Given the description of an element on the screen output the (x, y) to click on. 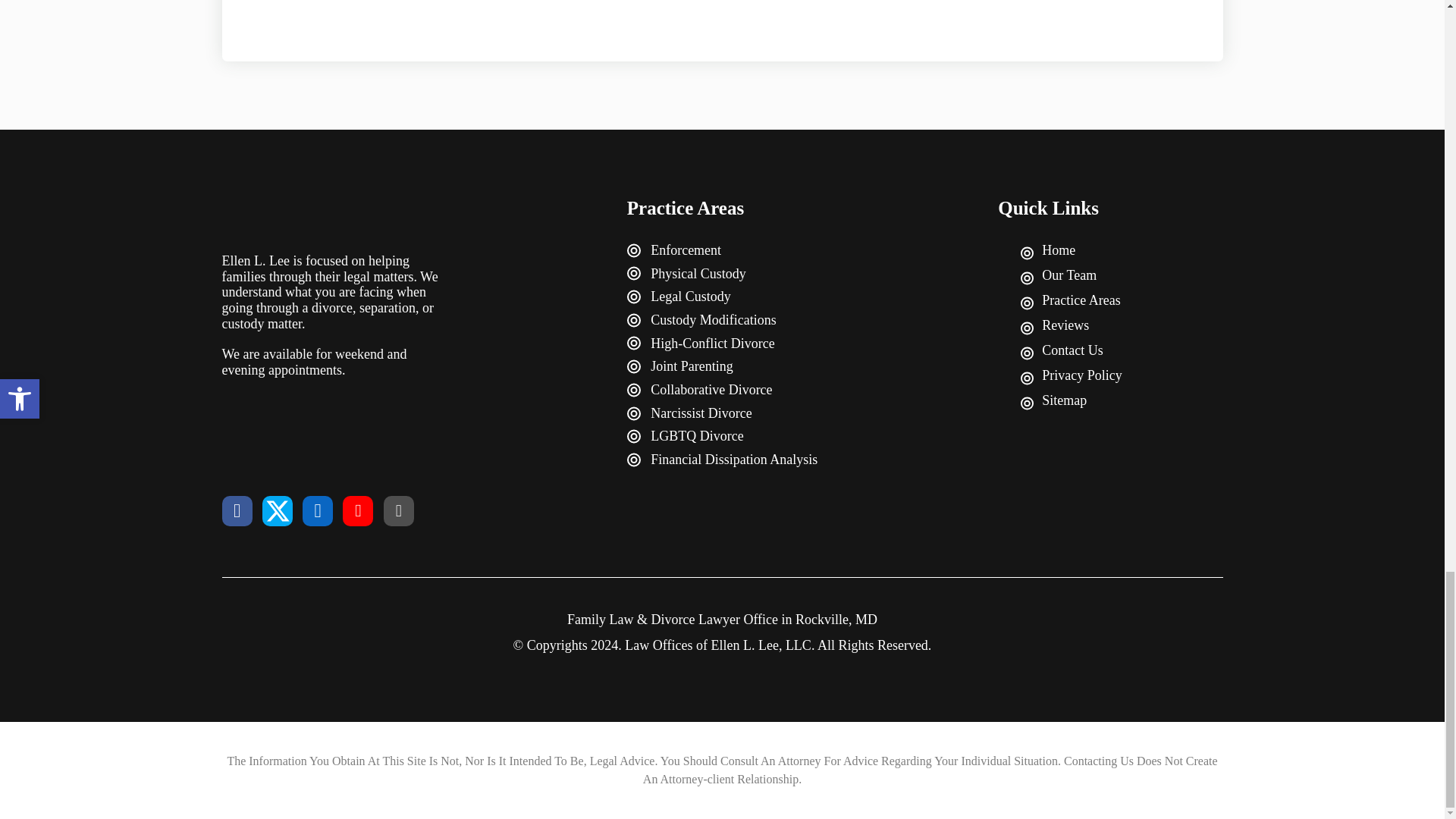
visite our location (398, 511)
Home (1121, 251)
visit our linkedin (317, 511)
Will I Lose Everything to My Spouse? (722, 30)
 visit our youtube chennel (357, 511)
visit our facebook (236, 511)
visit our twitter (277, 511)
